Given the description of an element on the screen output the (x, y) to click on. 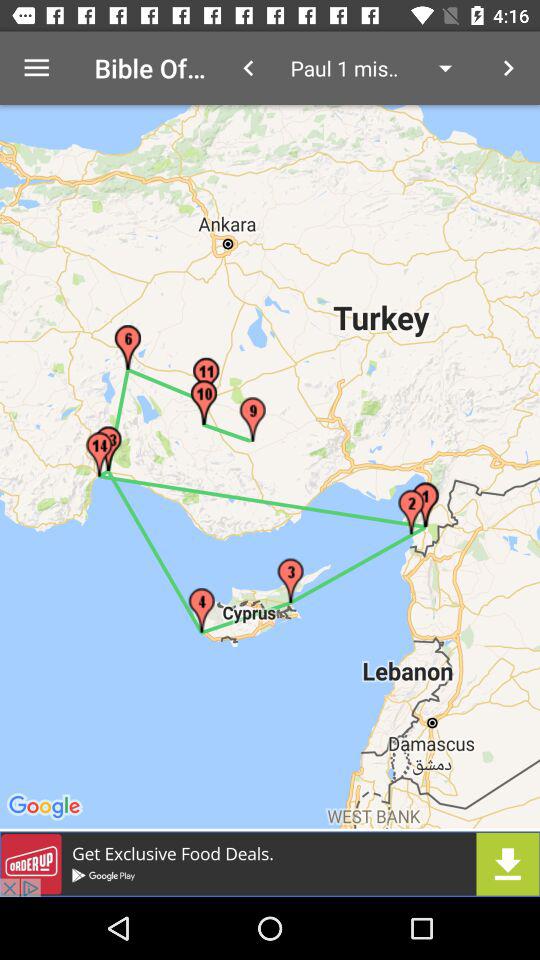
advertisement area (270, 864)
